Given the description of an element on the screen output the (x, y) to click on. 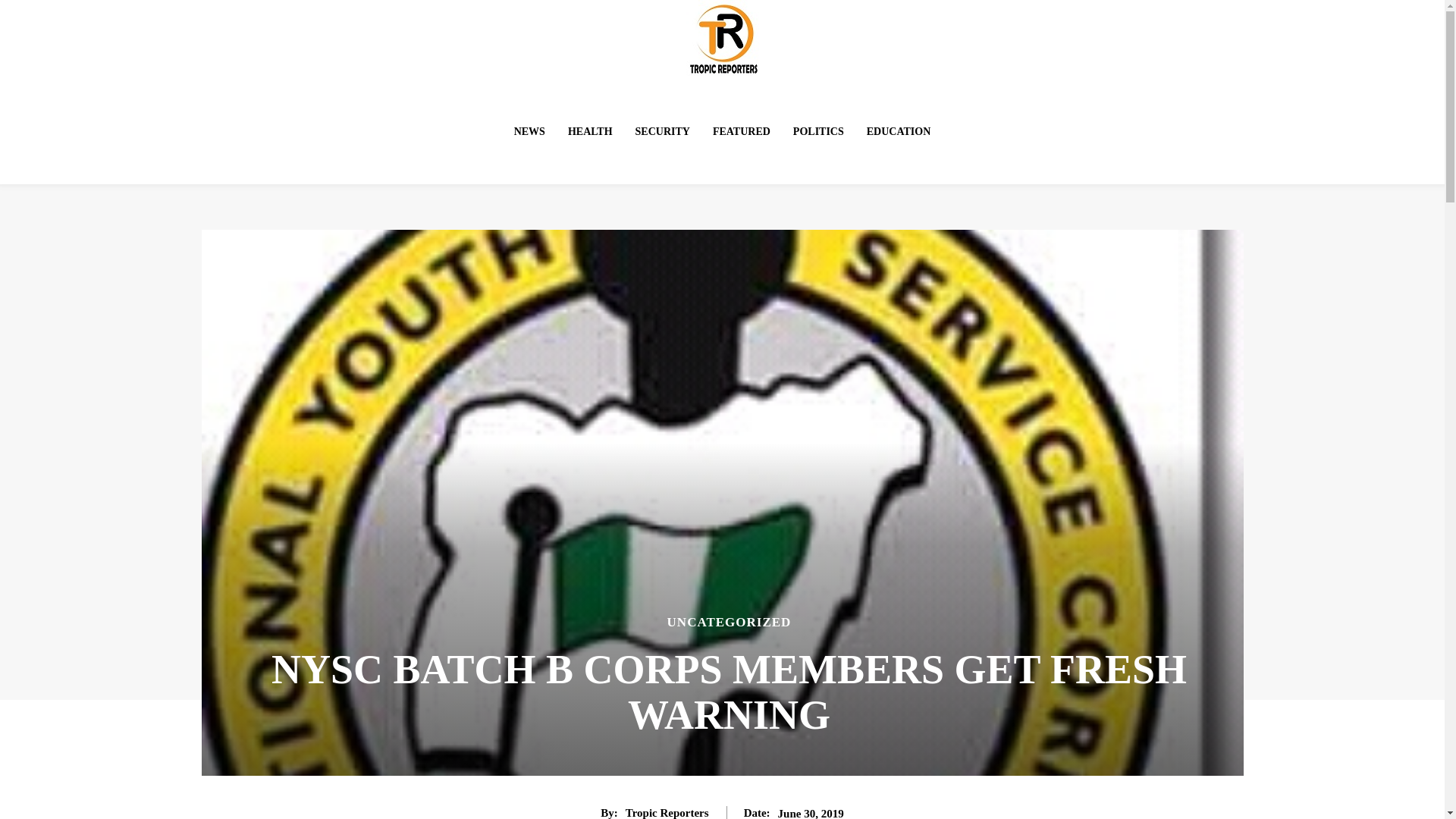
FEATURED (740, 132)
Tropic Reporters (667, 812)
UNCATEGORIZED (729, 621)
EDUCATION (899, 132)
POLITICS (818, 132)
HEALTH (590, 132)
NEWS (529, 132)
SECURITY (662, 132)
